Given the description of an element on the screen output the (x, y) to click on. 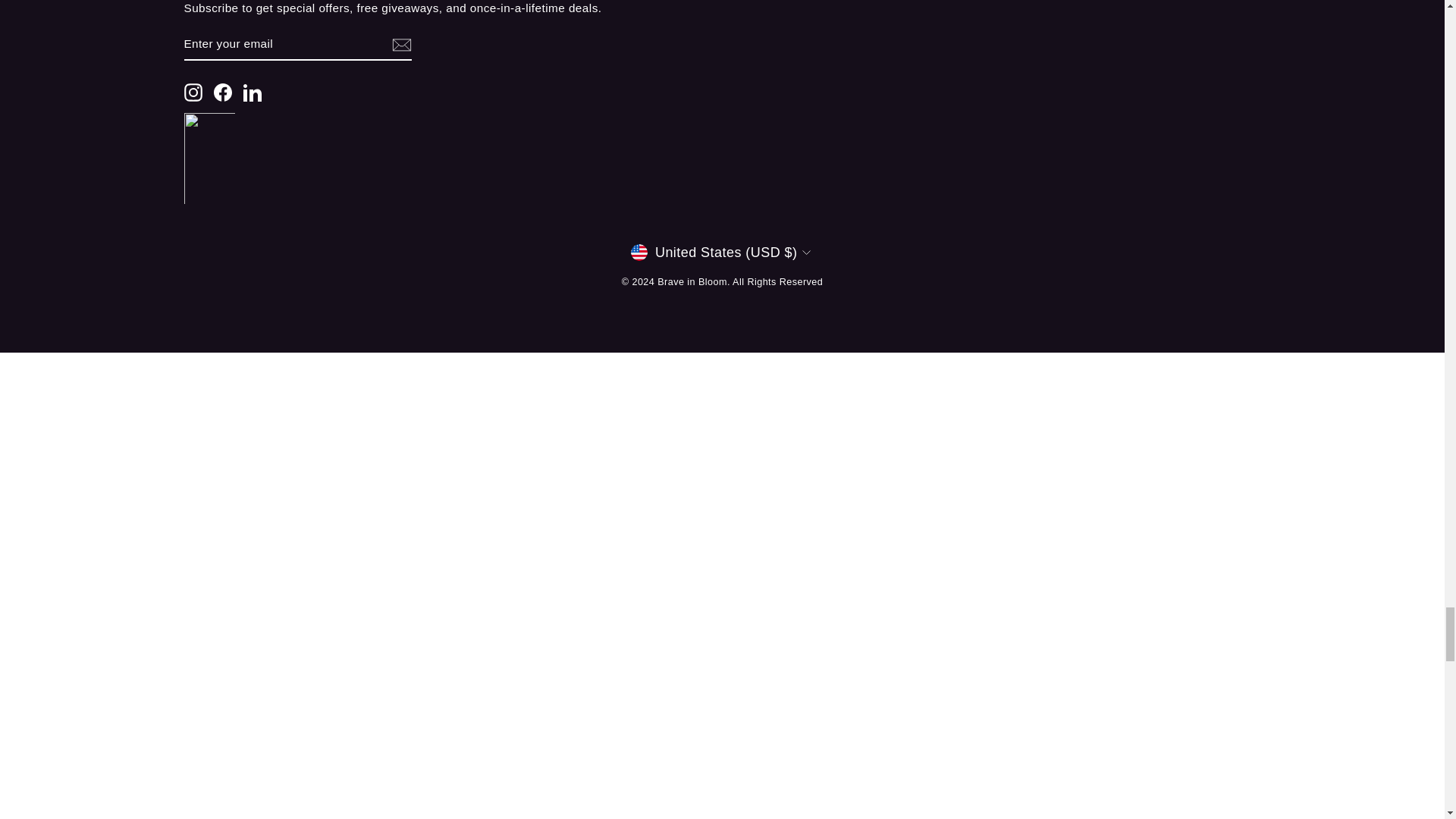
Brave in Bloom on Instagram (192, 92)
Brave in Bloom on Facebook (222, 92)
Brave in Bloom on LinkedIn (251, 92)
